Given the description of an element on the screen output the (x, y) to click on. 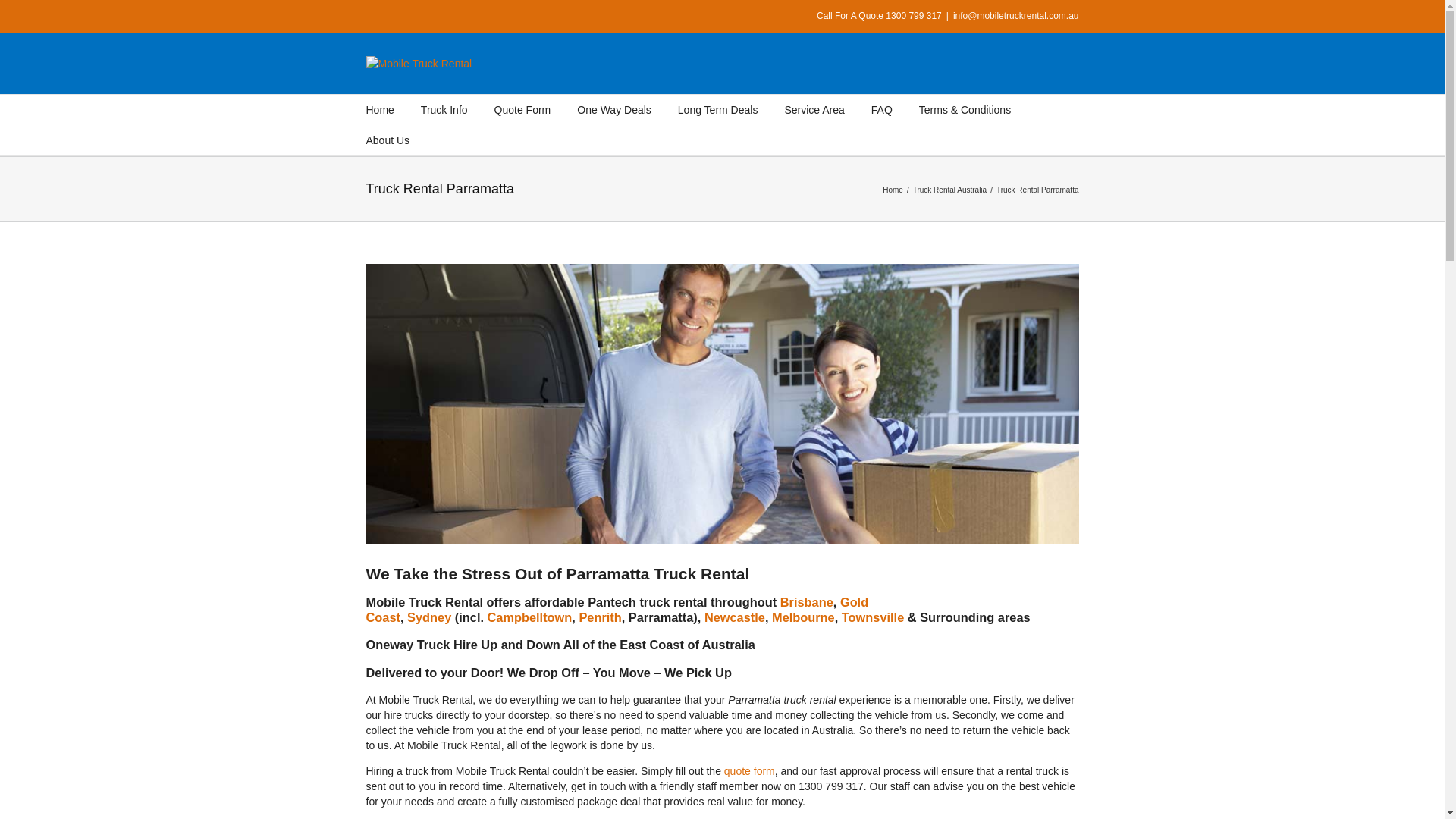
quote form Element type: text (749, 771)
Newcastle Element type: text (734, 617)
Gold Coast Element type: text (616, 609)
Long Term Deals Element type: text (717, 109)
Sydney Element type: text (429, 617)
Campbelltown Element type: text (529, 617)
Quote Form Element type: text (522, 109)
Melbourne Element type: text (802, 617)
FAQ Element type: text (881, 109)
Truck Rental Australia Element type: text (951, 189)
Truck Info Element type: text (443, 109)
Home Element type: text (894, 189)
Service Area Element type: text (814, 109)
Terms & Conditions Element type: text (964, 109)
Home Element type: text (379, 109)
One Way Deals Element type: text (614, 109)
Townsville Element type: text (872, 617)
Brisbane Element type: text (806, 601)
info@mobiletruckrental.com.au Element type: text (1016, 15)
About Us Element type: text (387, 140)
Penrith Element type: text (599, 617)
